Given the description of an element on the screen output the (x, y) to click on. 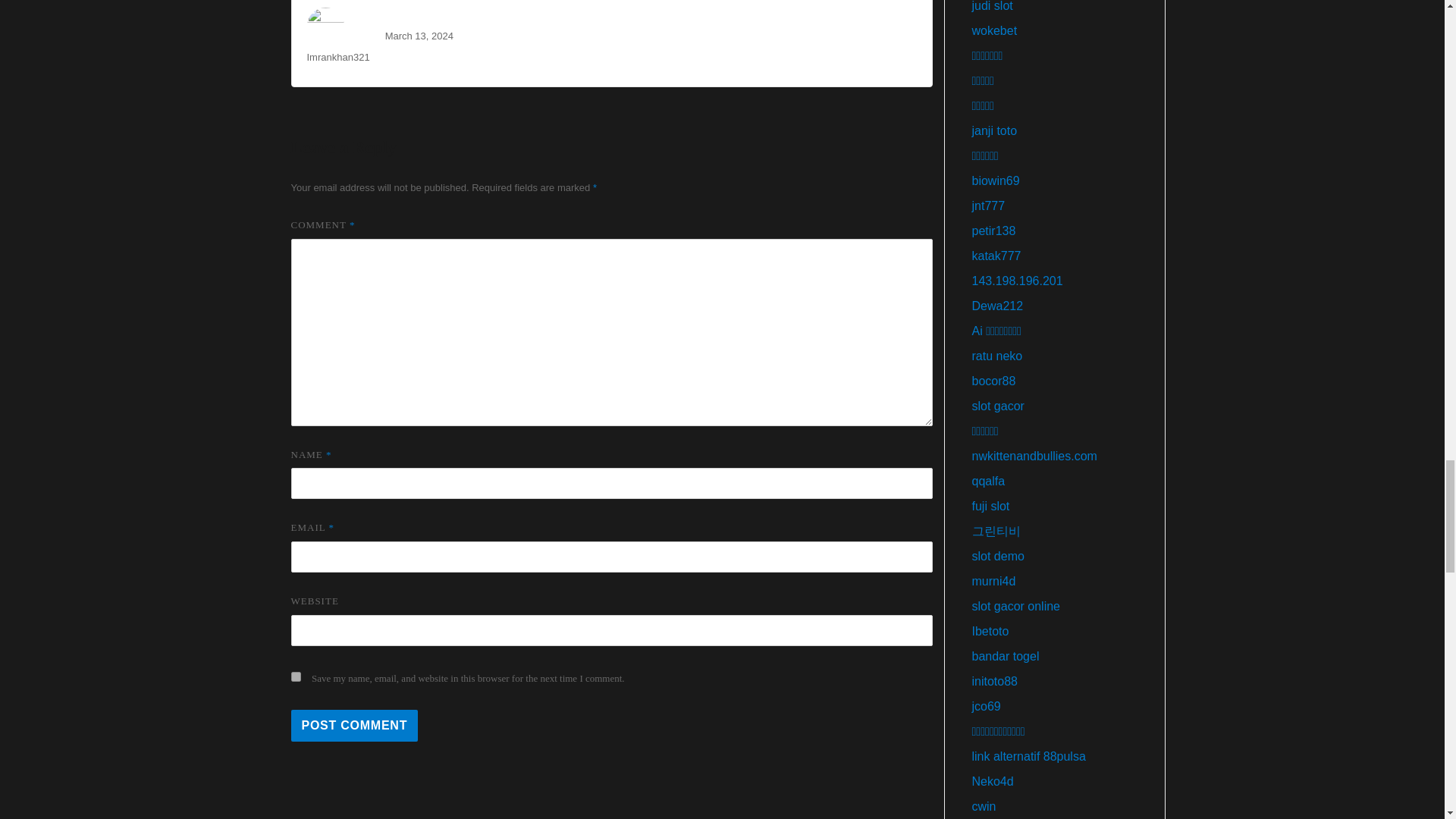
March 13, 2024 (418, 35)
Post Comment (355, 726)
Imrankhan321 (337, 57)
yes (296, 676)
Post Comment (355, 726)
